Given the description of an element on the screen output the (x, y) to click on. 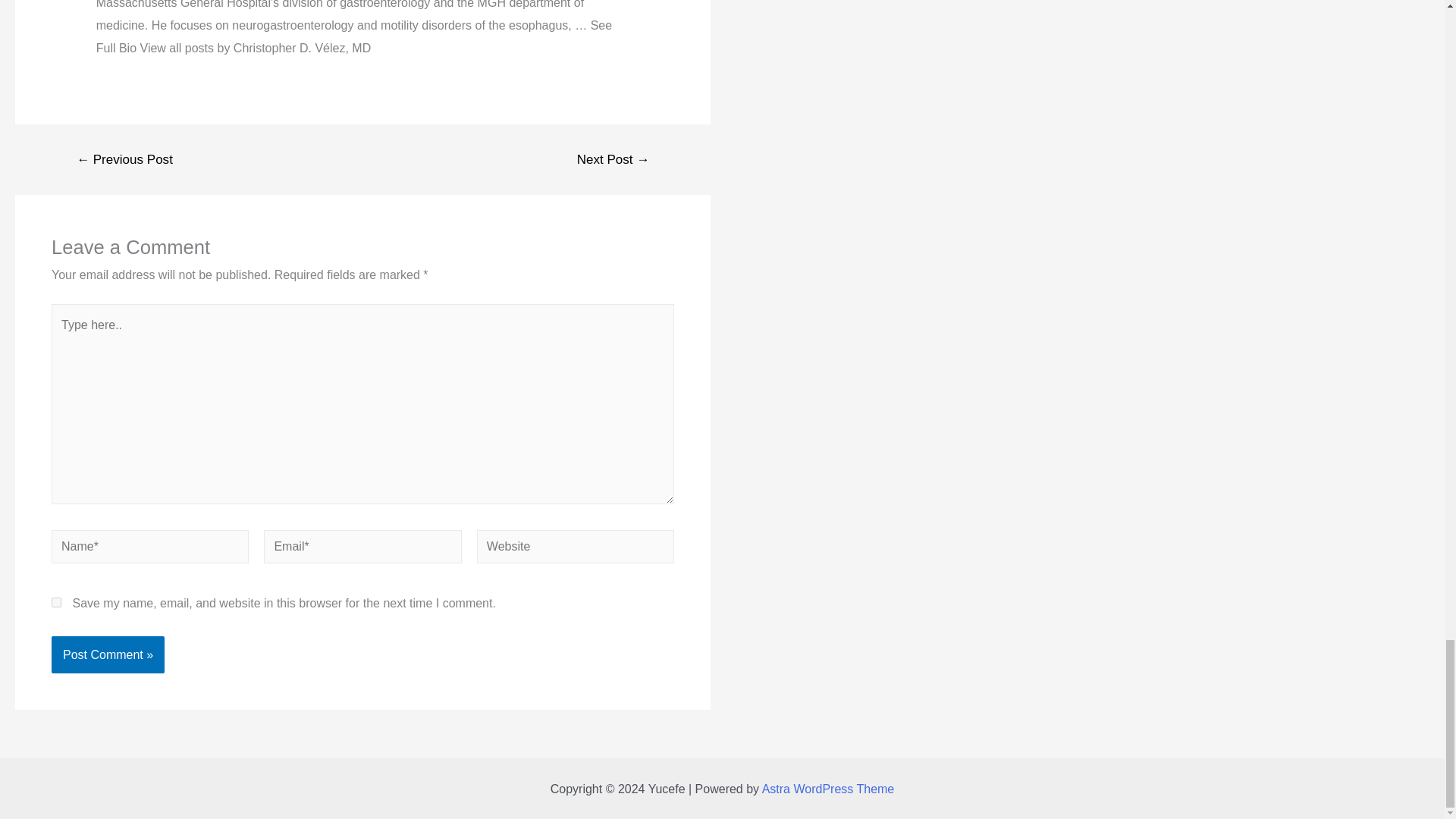
yes (55, 602)
